Given the description of an element on the screen output the (x, y) to click on. 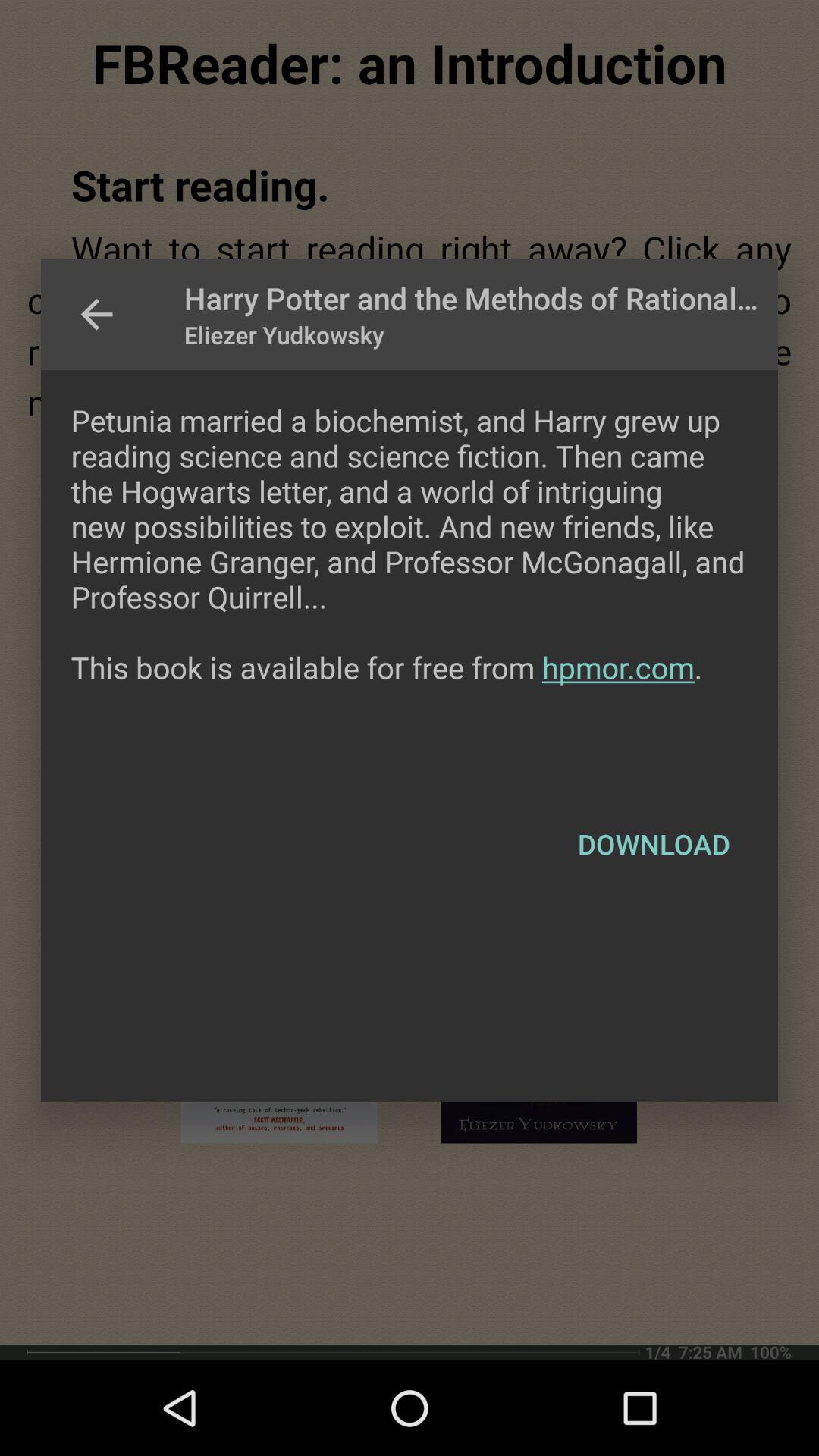
select the download icon (653, 843)
